Given the description of an element on the screen output the (x, y) to click on. 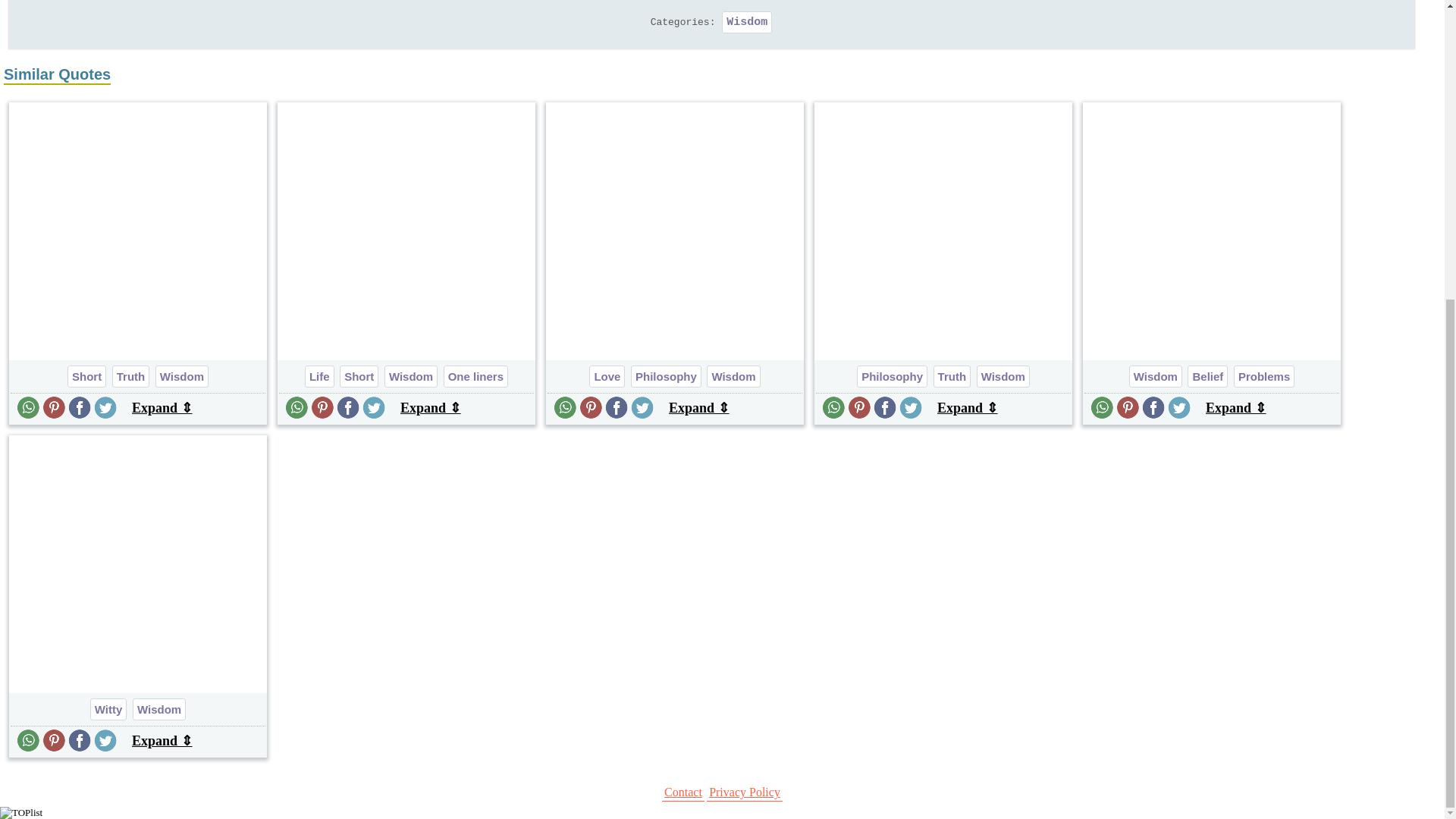
Short (86, 376)
Wisdom (411, 376)
Wisdom (746, 22)
Truth (130, 376)
Love (606, 376)
Wisdom (181, 376)
One liners (476, 376)
Life (319, 376)
Short (358, 376)
